Given the description of an element on the screen output the (x, y) to click on. 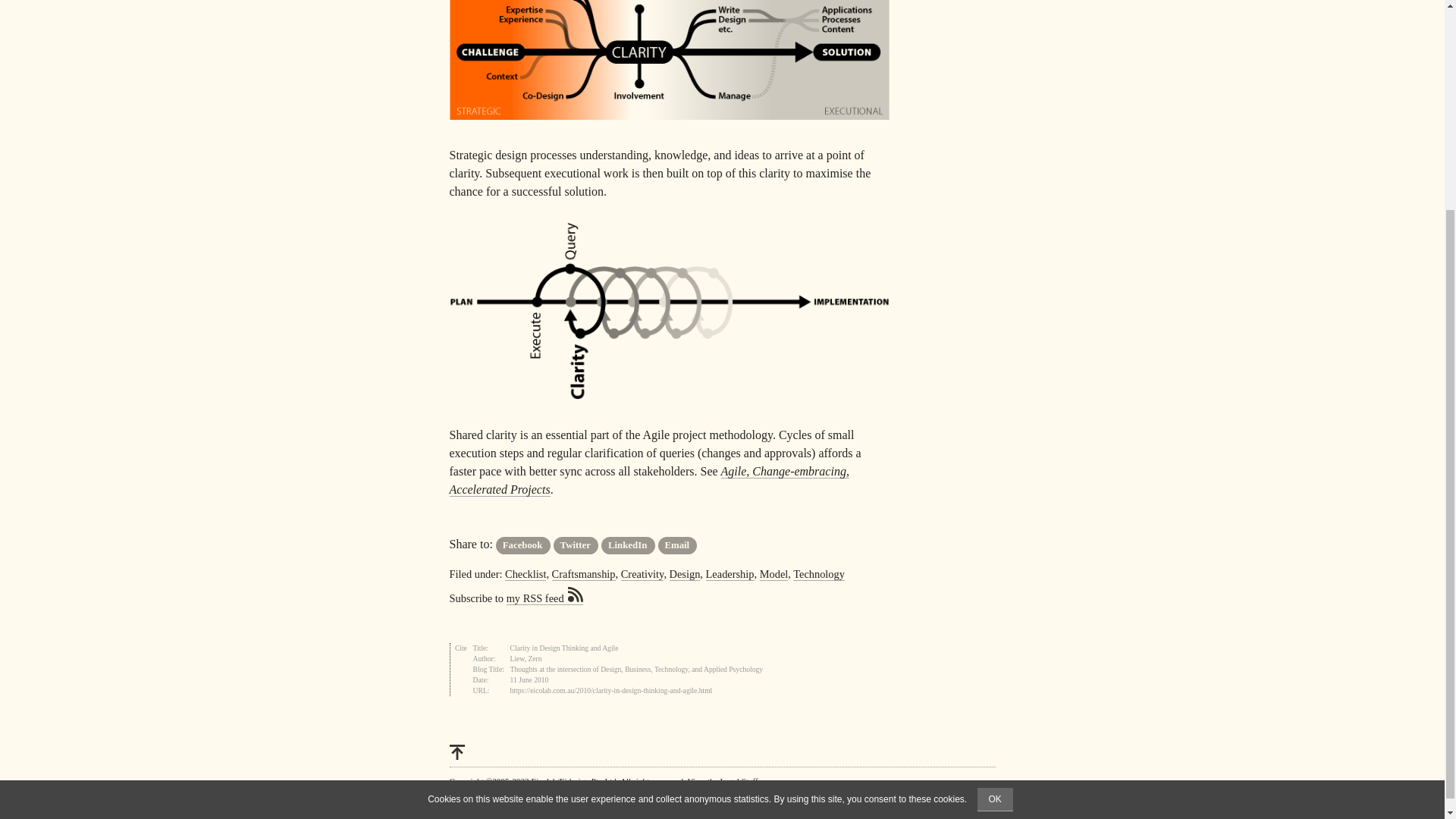
Twitter (575, 545)
Checklist (525, 574)
Facebook (523, 545)
my RSS feed (544, 598)
